Given the description of an element on the screen output the (x, y) to click on. 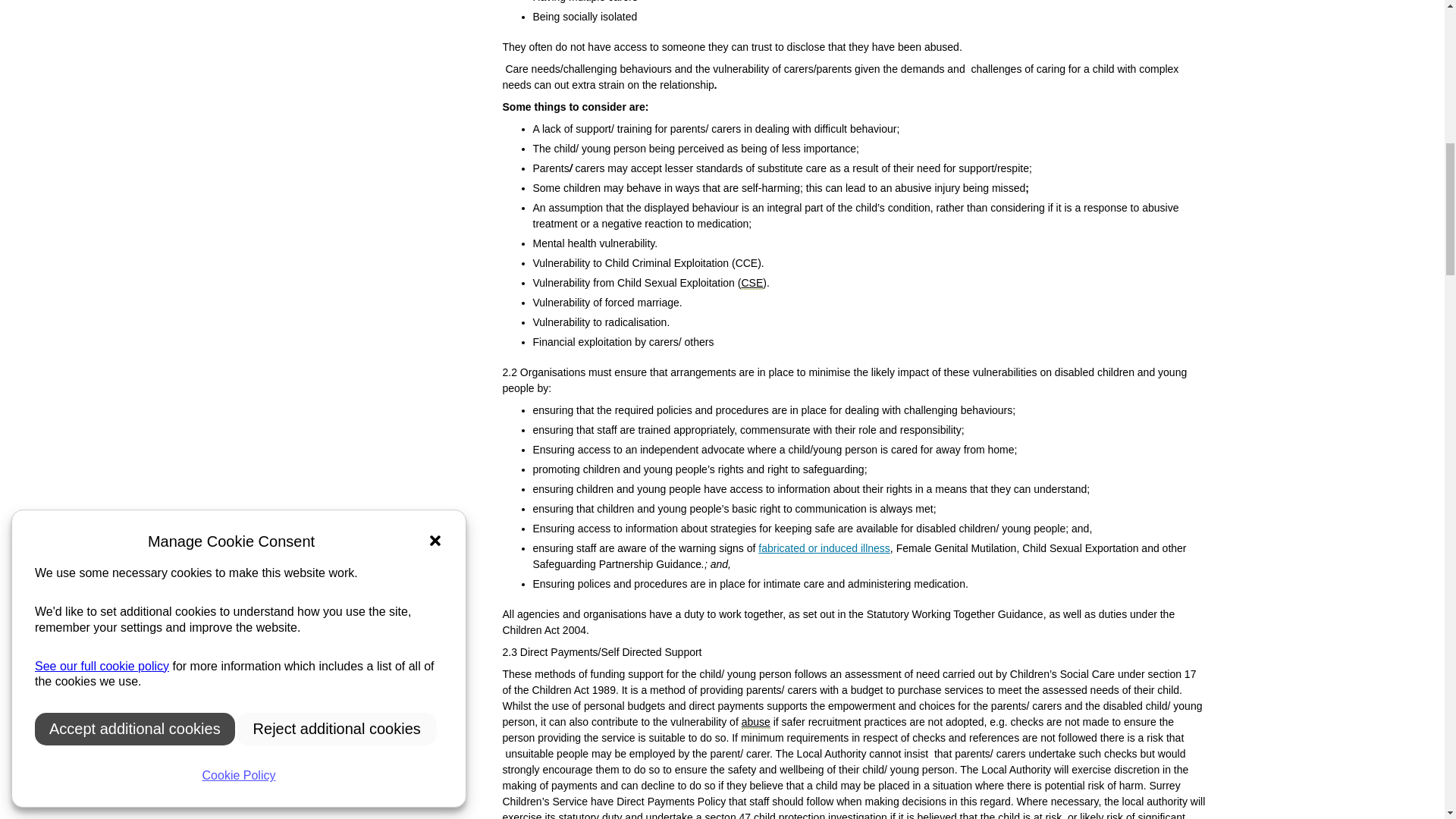
fabricated or induced illness (823, 548)
CSE (751, 282)
abuse (755, 721)
